Given the description of an element on the screen output the (x, y) to click on. 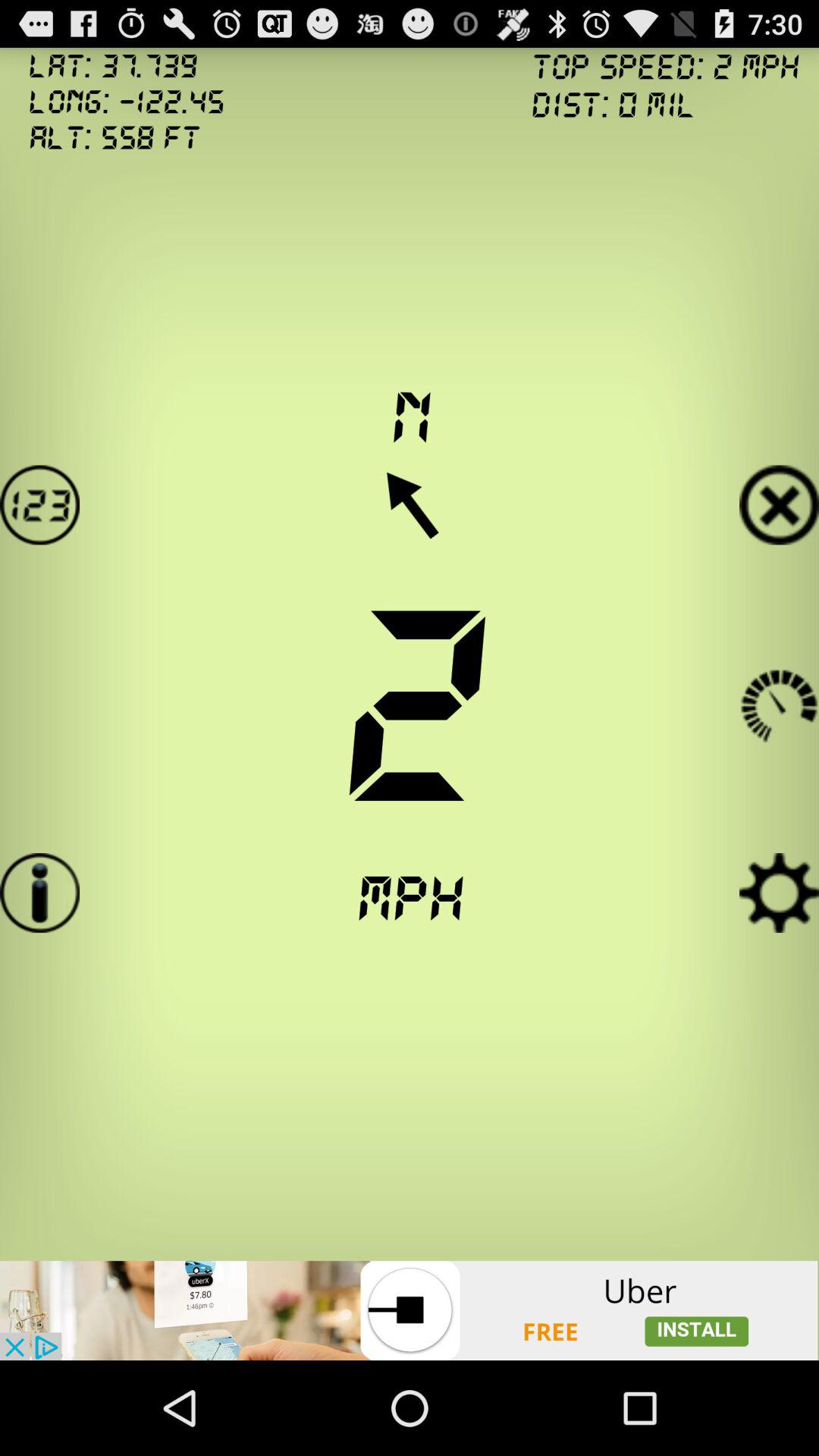
exit button (779, 504)
